Given the description of an element on the screen output the (x, y) to click on. 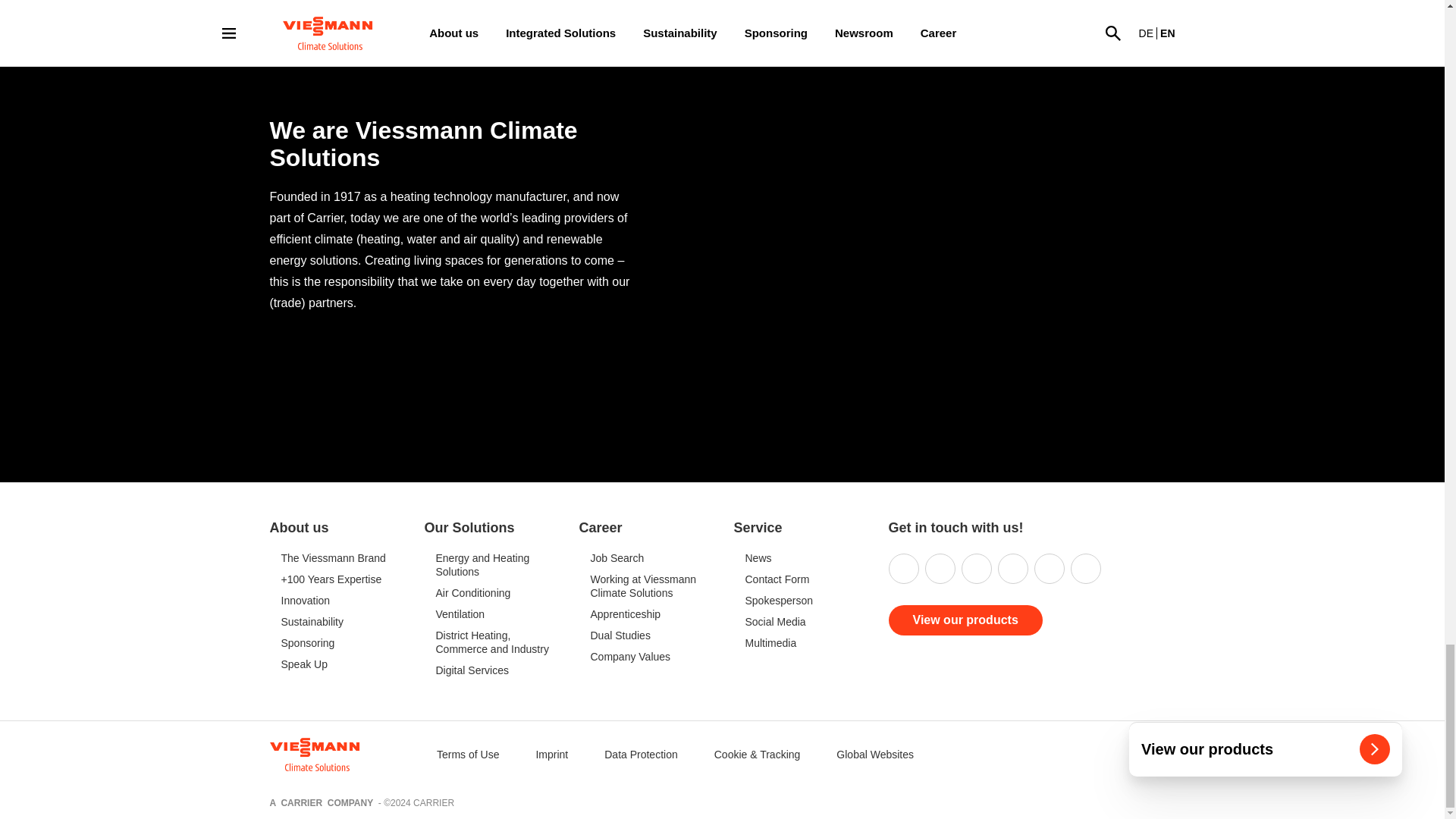
Twitter (1012, 568)
Viessmann Climate Solutions word brand (328, 753)
Youtube (1048, 568)
Instagram (939, 568)
Linkedin (903, 568)
Facebook (975, 568)
TikTok (1085, 568)
